Given the description of an element on the screen output the (x, y) to click on. 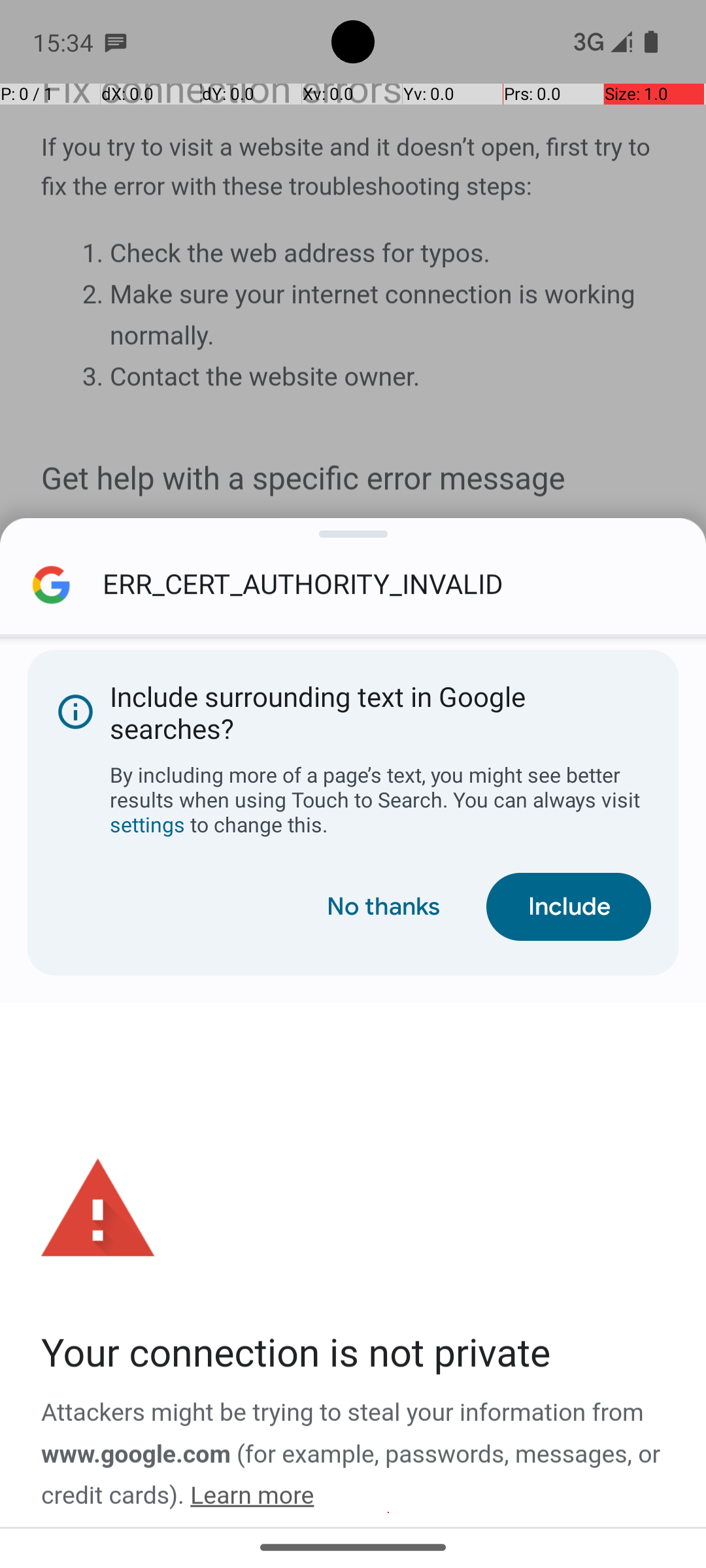
Include surrounding text in Google searches? Element type: android.widget.TextView (352, 711)
By including more of a page’s text, you might see better results when using Touch to Search. You can always visit settings to change this. Element type: android.widget.TextView (380, 799)
Include Element type: android.widget.Button (568, 906)
To fix the error, open your device's clock. Make sure the time and date are correct. Element type: android.widget.TextView (388, 1512)
